Given the description of an element on the screen output the (x, y) to click on. 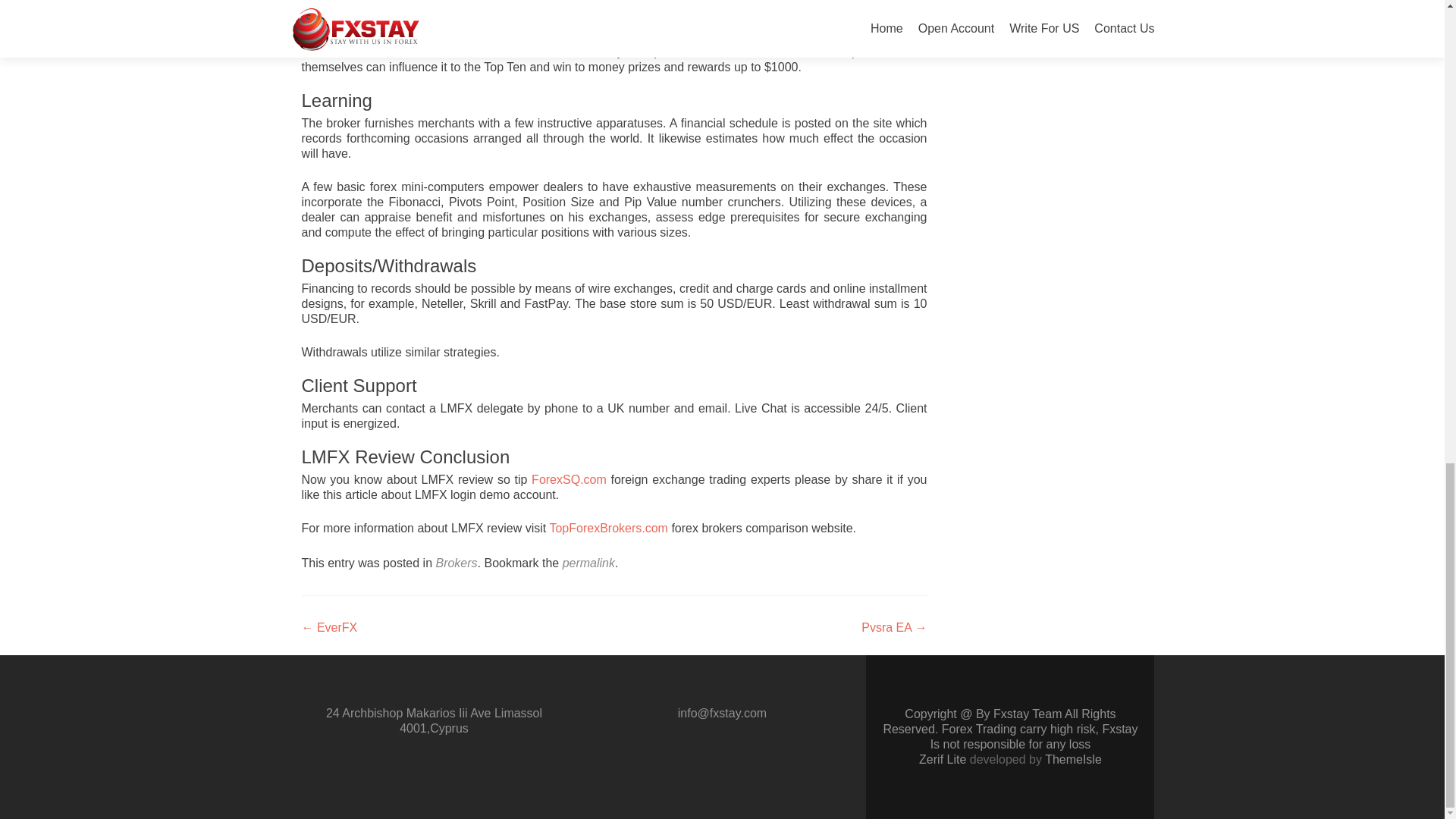
permalink (588, 562)
TopForexBrokers.com (608, 527)
Brokers (456, 562)
ThemeIsle (1073, 758)
Zerif Lite (943, 758)
ForexSQ.com (569, 479)
